Given the description of an element on the screen output the (x, y) to click on. 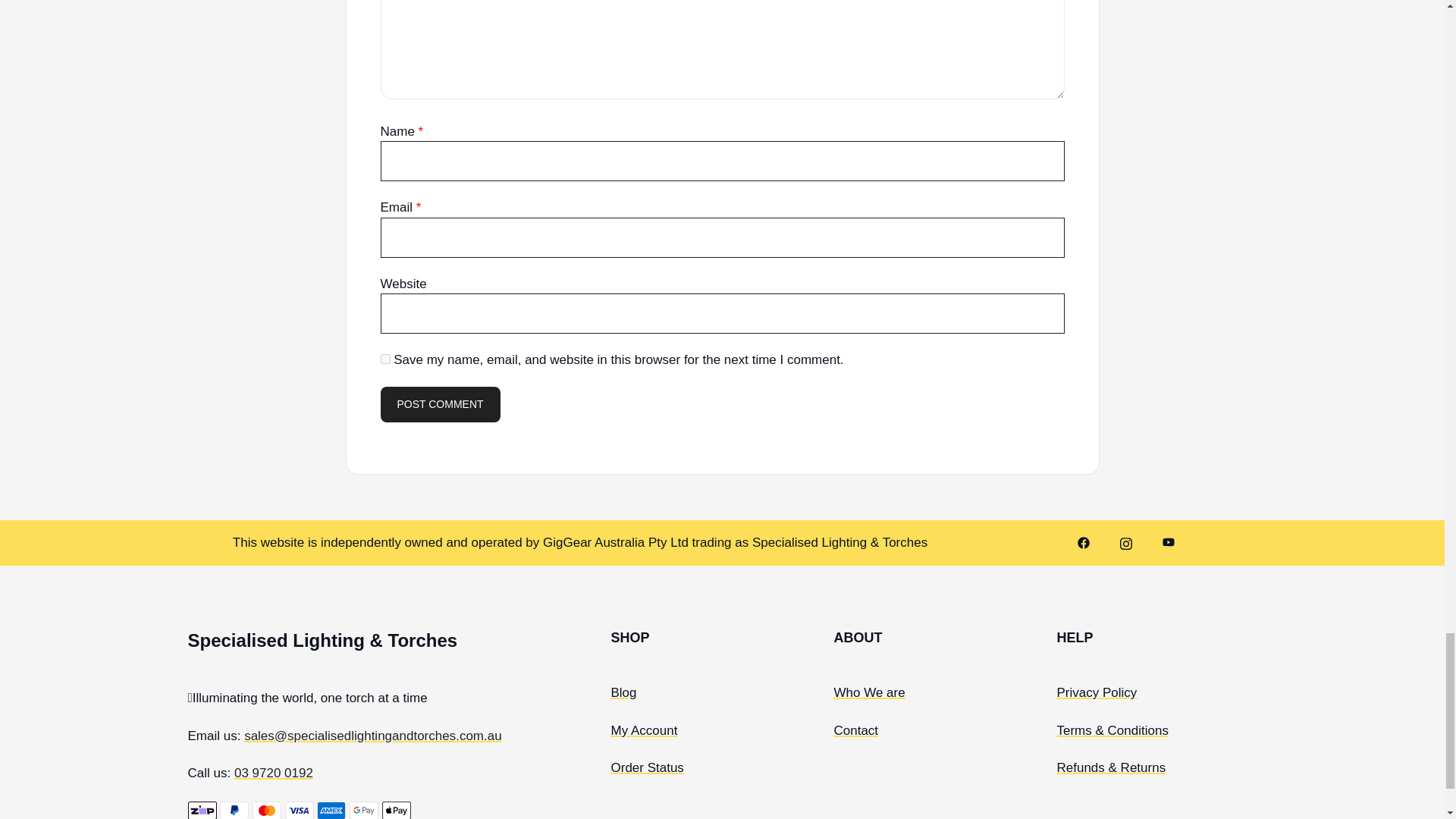
yes (385, 358)
Post Comment (440, 404)
